Given the description of an element on the screen output the (x, y) to click on. 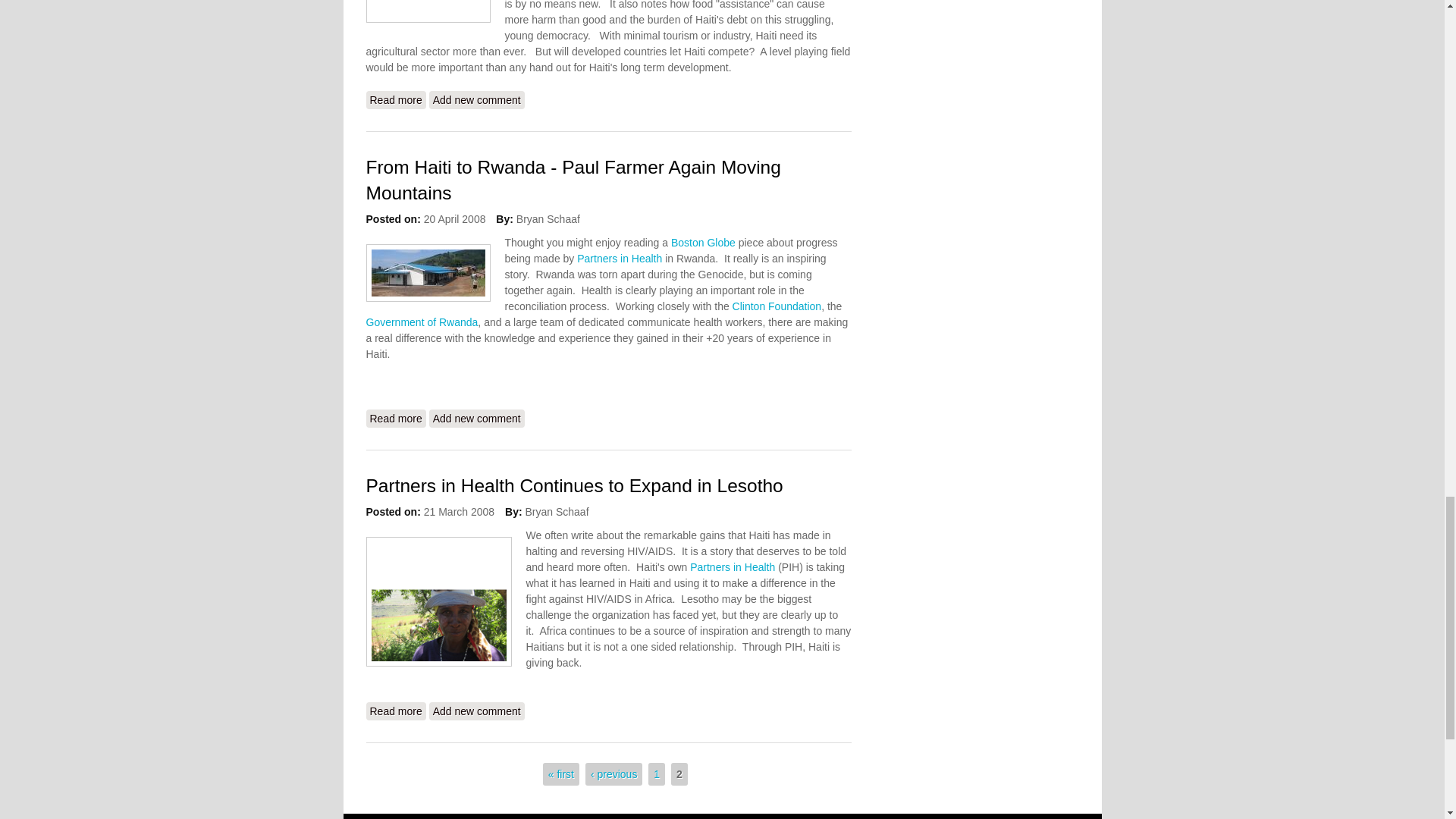
Add new comment (476, 418)
Go to first page (560, 774)
Partners in Health Continues to Expand in Lesotho (395, 710)
Partners in Health (619, 258)
From Haiti to Rwanda - Paul Farmer Again Moving Mountains (395, 418)
Add a new comment to this page. (476, 710)
Add a new comment to this page. (476, 99)
Add a new comment to this page. (476, 418)
From Haiti to Rwanda - Paul Farmer Again Moving Mountains (572, 180)
Government of Rwanda (421, 322)
